Given the description of an element on the screen output the (x, y) to click on. 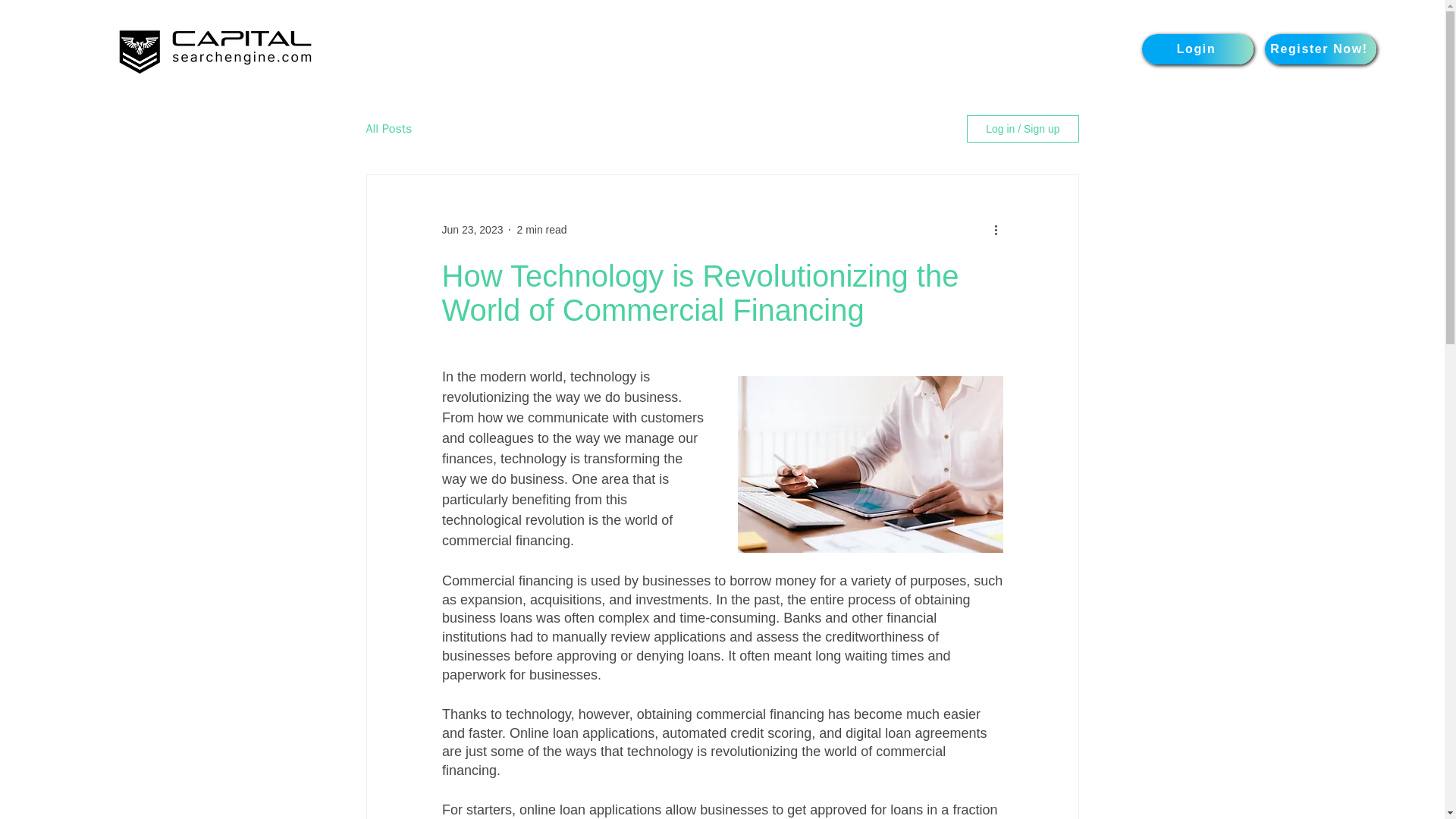
Key Platform Features (909, 49)
Lenders (798, 49)
Brokers (732, 49)
Login (1197, 49)
Register Now! (1320, 49)
Jun 23, 2023 (471, 228)
2 min read (541, 228)
Webinars (1025, 49)
All Posts (388, 129)
Home (671, 49)
